Given the description of an element on the screen output the (x, y) to click on. 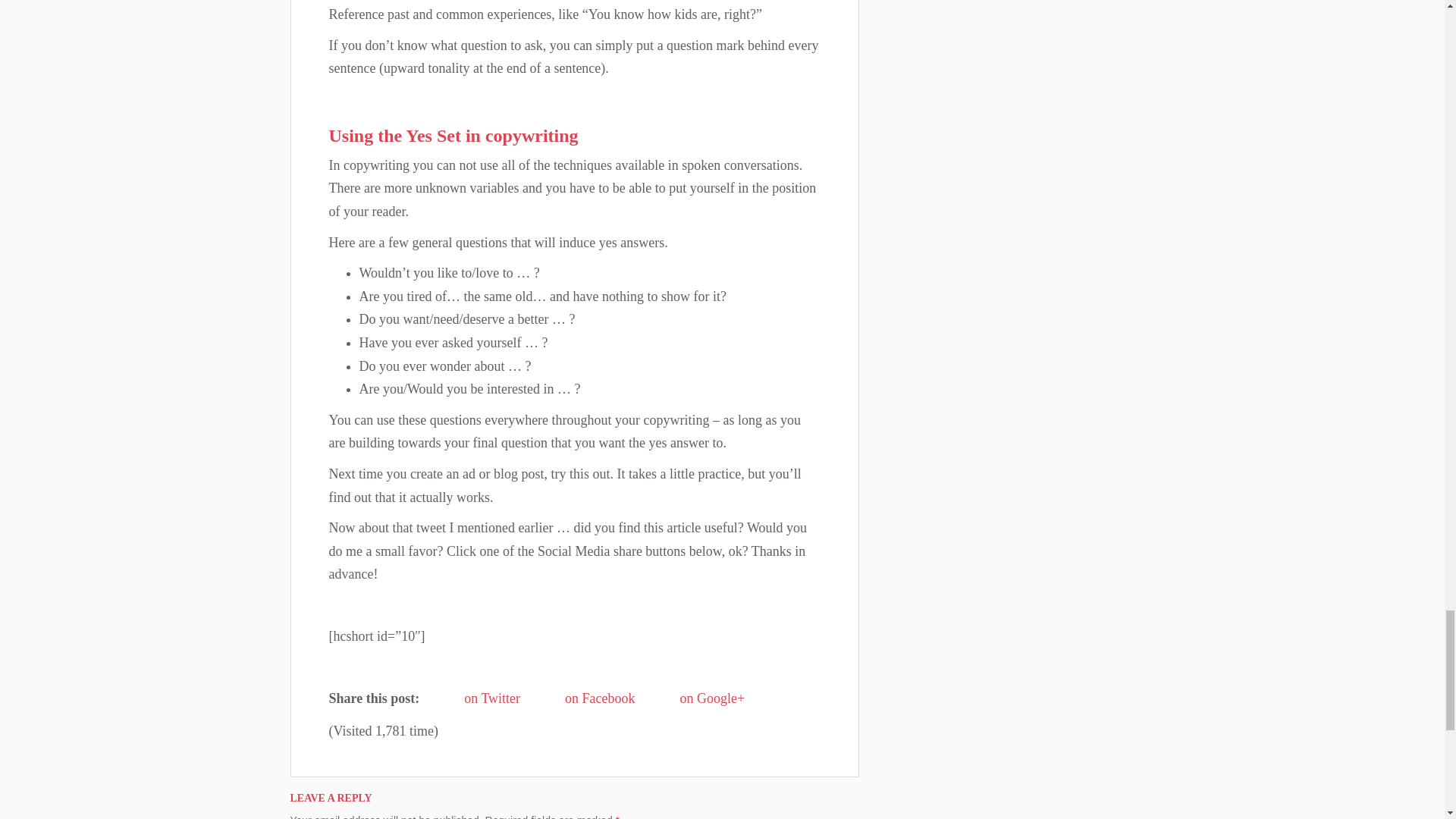
on Twitter (475, 698)
on Facebook (583, 698)
